Given the description of an element on the screen output the (x, y) to click on. 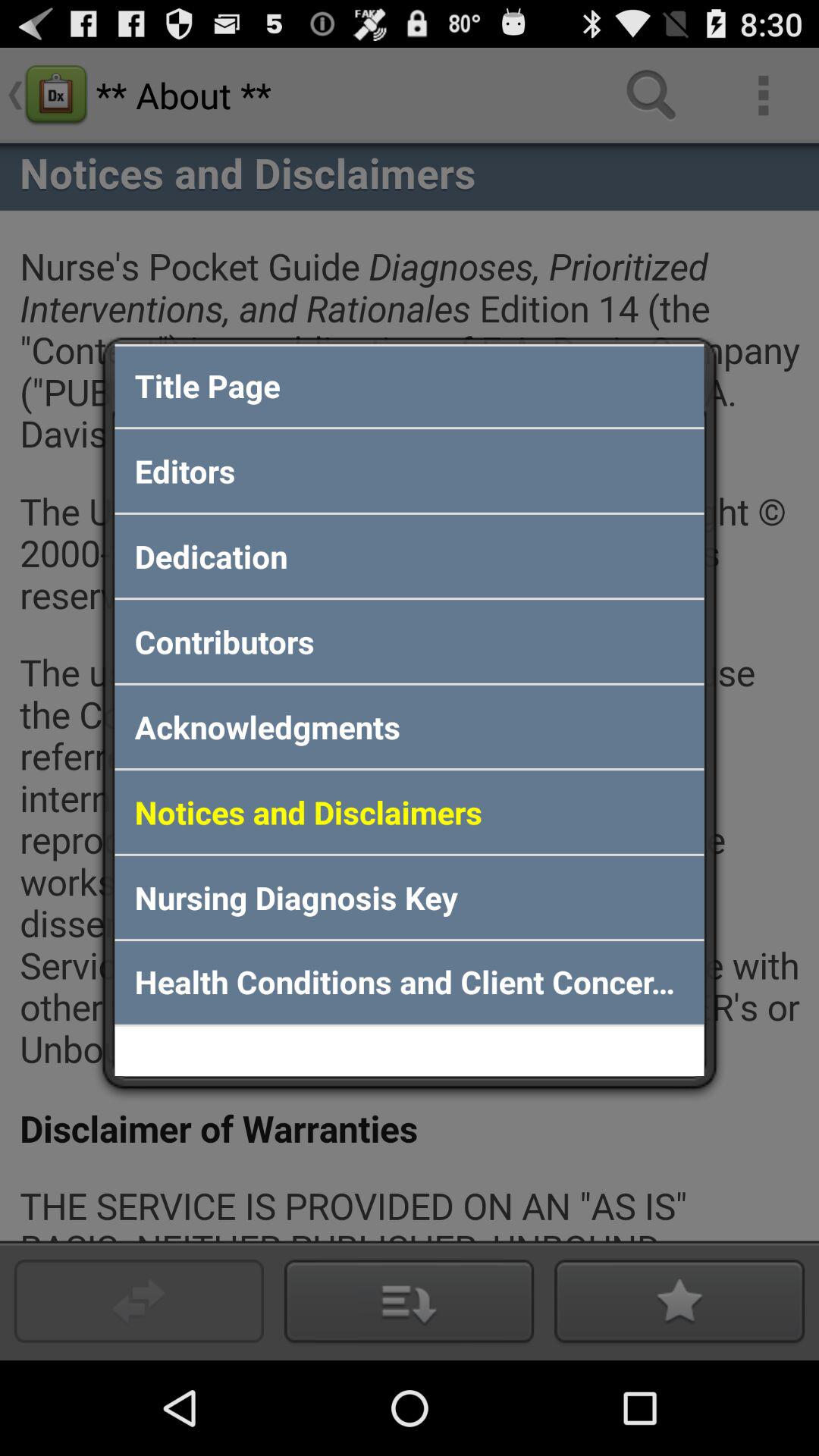
turn off the dedication app (409, 555)
